Given the description of an element on the screen output the (x, y) to click on. 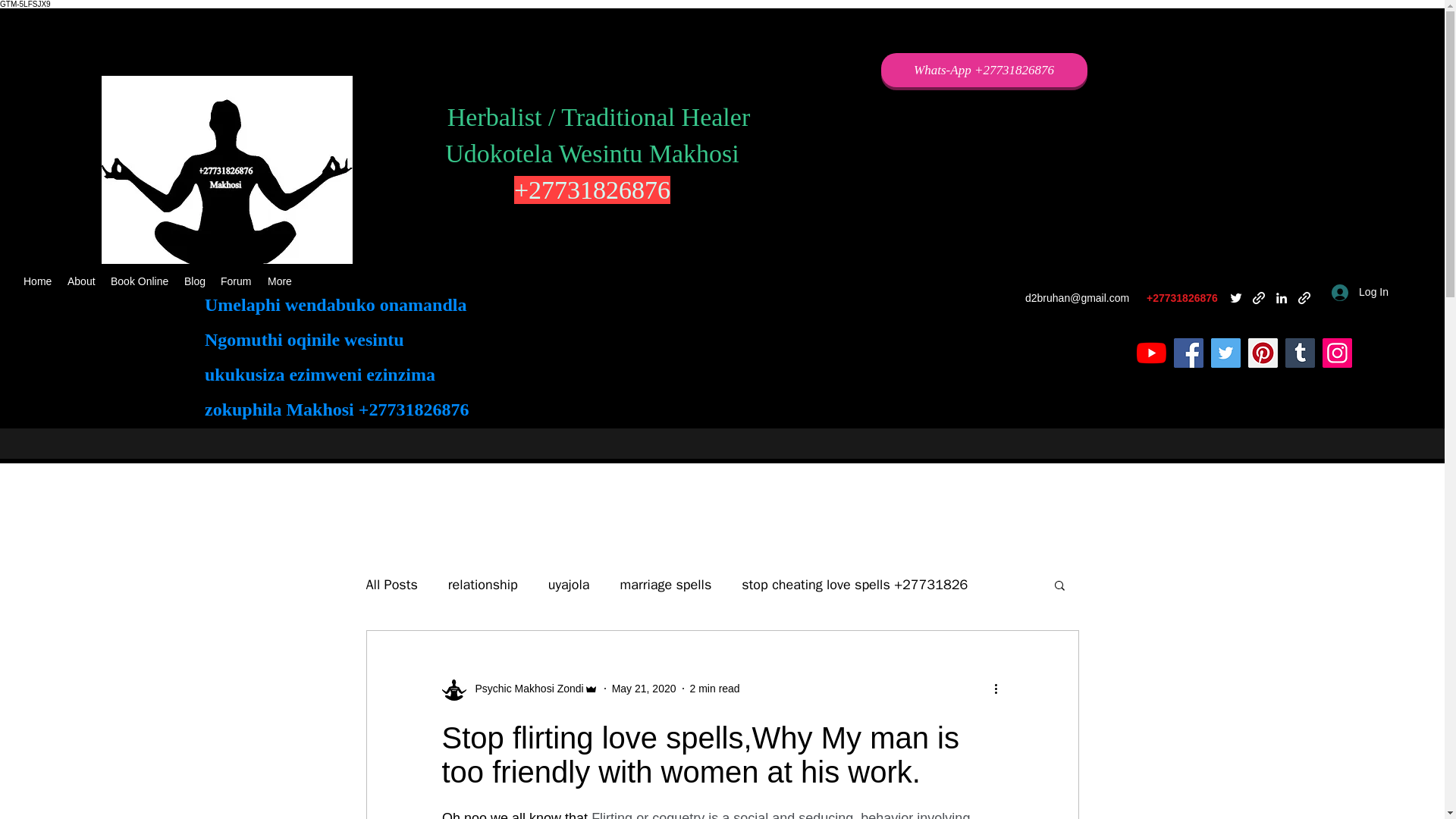
All Posts (390, 584)
Blog (194, 281)
Home (37, 281)
May 21, 2020 (644, 688)
2 min read (714, 688)
relationship (483, 584)
Psychic Makhosi Zondi (524, 688)
marriage spells (665, 584)
Log In (1359, 292)
uyajola (568, 584)
Book Online (139, 281)
About (81, 281)
Psychic Makhosi Zondi (518, 688)
Forum (236, 281)
